Given the description of an element on the screen output the (x, y) to click on. 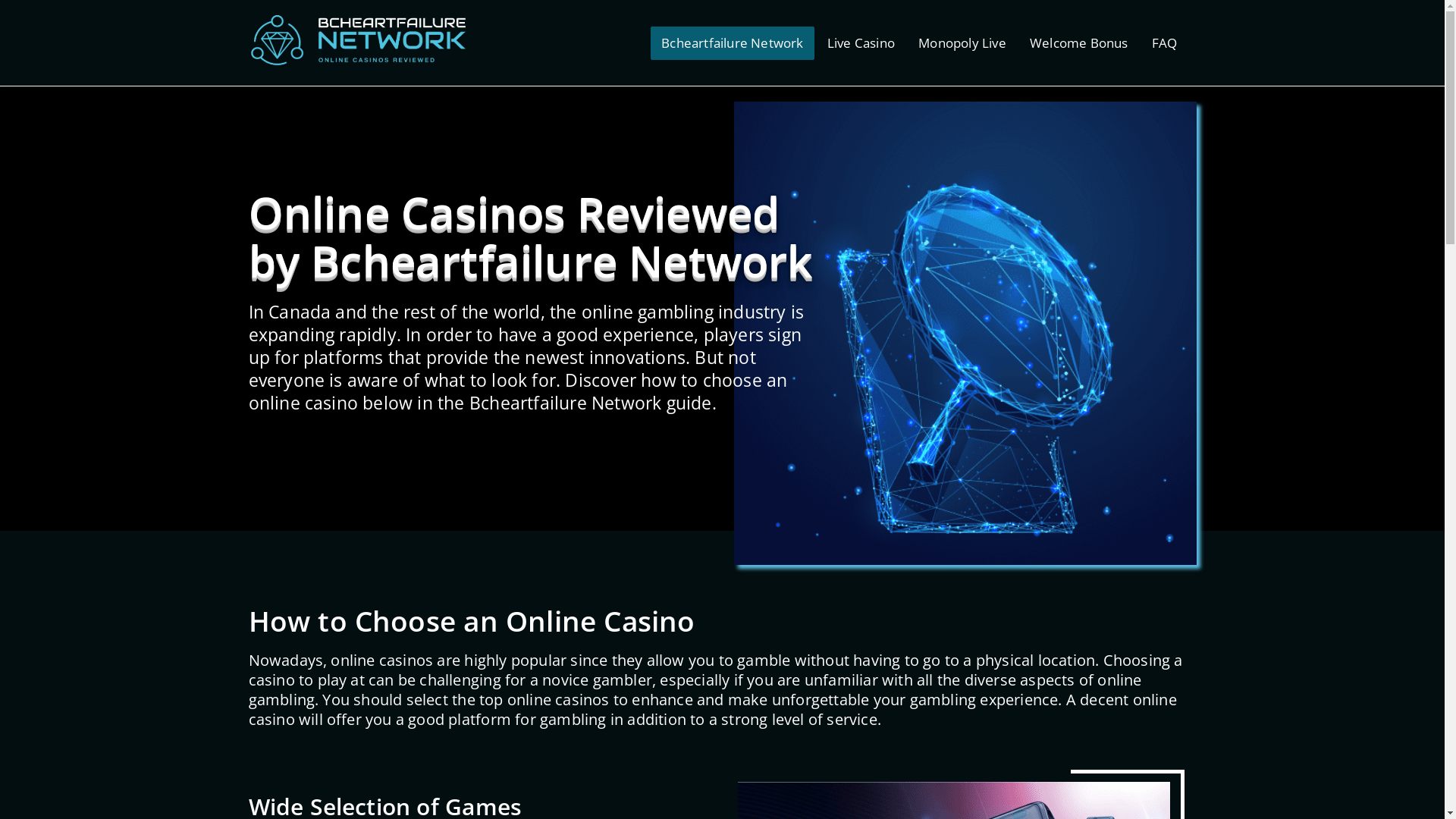
Welcome Bonus Element type: text (1079, 42)
Live Casino Element type: text (860, 42)
Bcheartfailure Network Element type: text (731, 42)
Monopoly Live Element type: text (961, 42)
FAQ Element type: text (1164, 42)
